Given the description of an element on the screen output the (x, y) to click on. 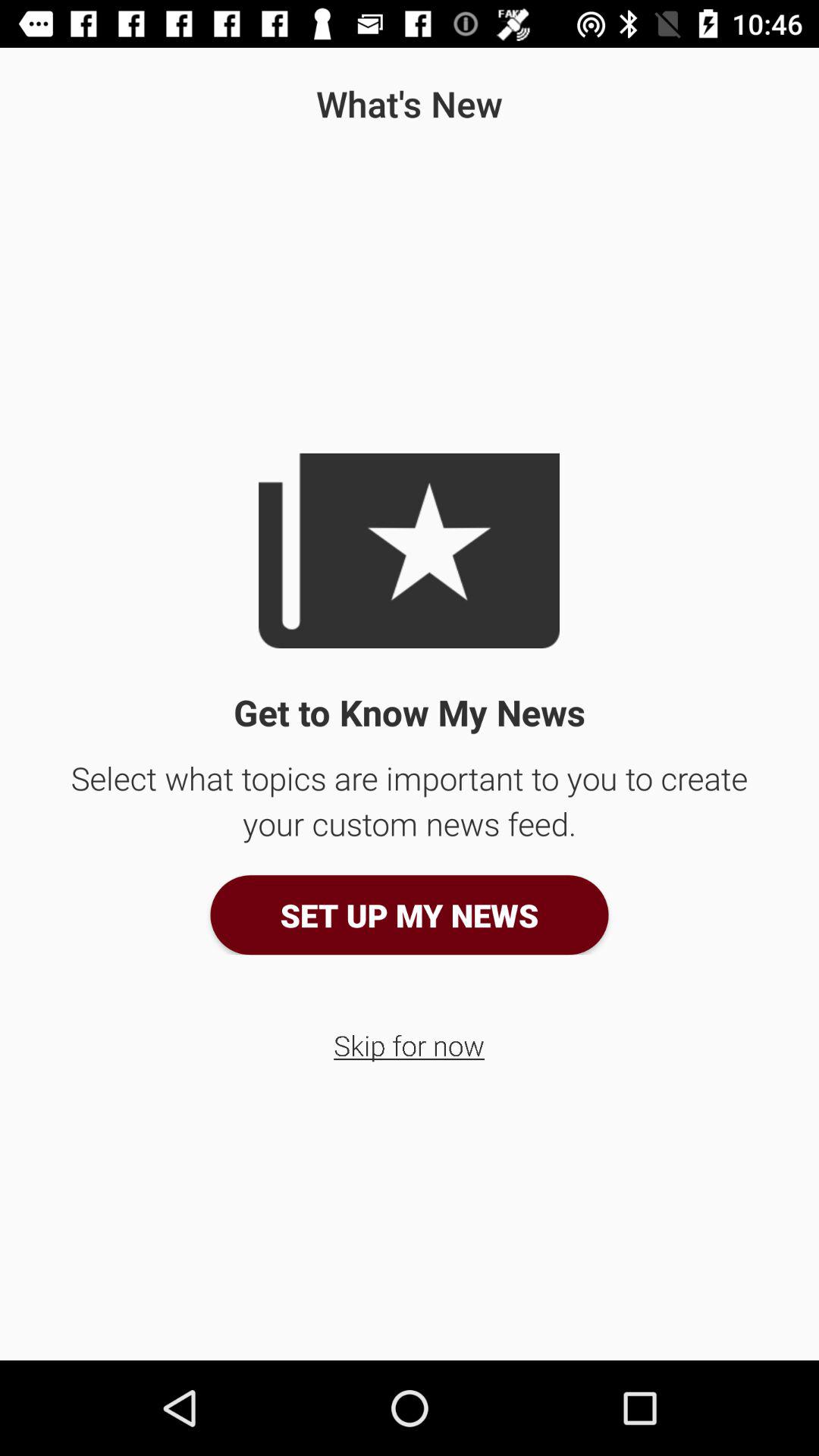
press the item above the skip for now app (409, 914)
